Given the description of an element on the screen output the (x, y) to click on. 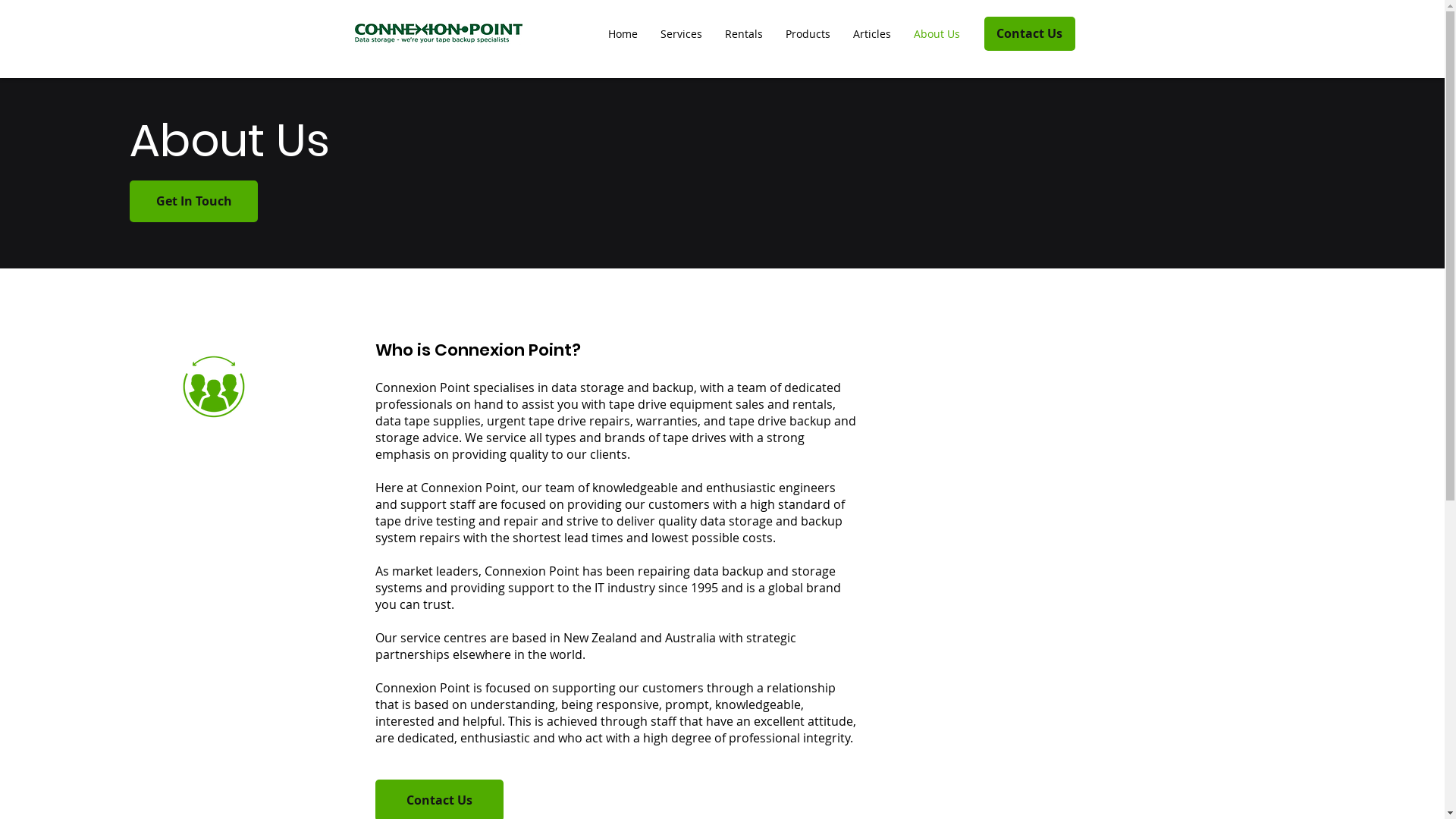
team_icon.png Element type: hover (213, 386)
Rentals Element type: text (742, 34)
Services Element type: text (681, 34)
cxp-logo.png Element type: hover (438, 33)
About Us Element type: text (936, 34)
Articles Element type: text (871, 34)
Home Element type: text (622, 34)
Contact Us Element type: text (1029, 33)
Get In Touch Element type: text (193, 201)
